Given the description of an element on the screen output the (x, y) to click on. 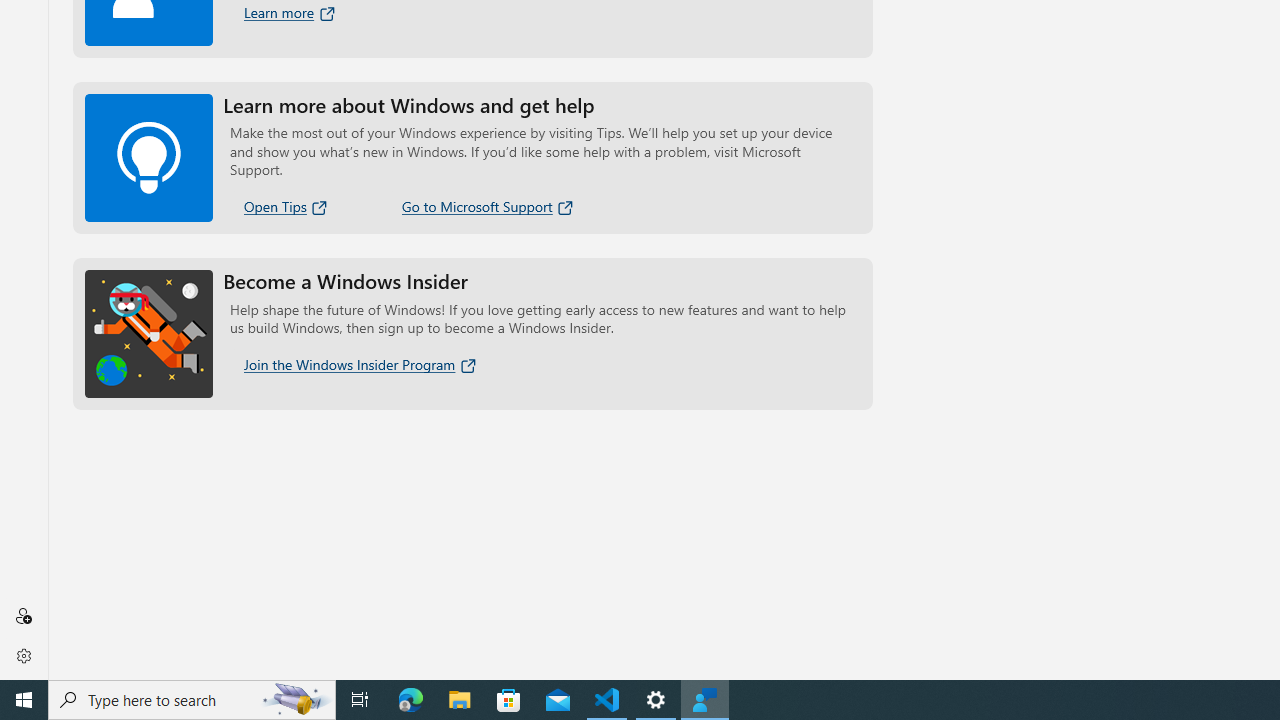
Task View (359, 699)
